Given the description of an element on the screen output the (x, y) to click on. 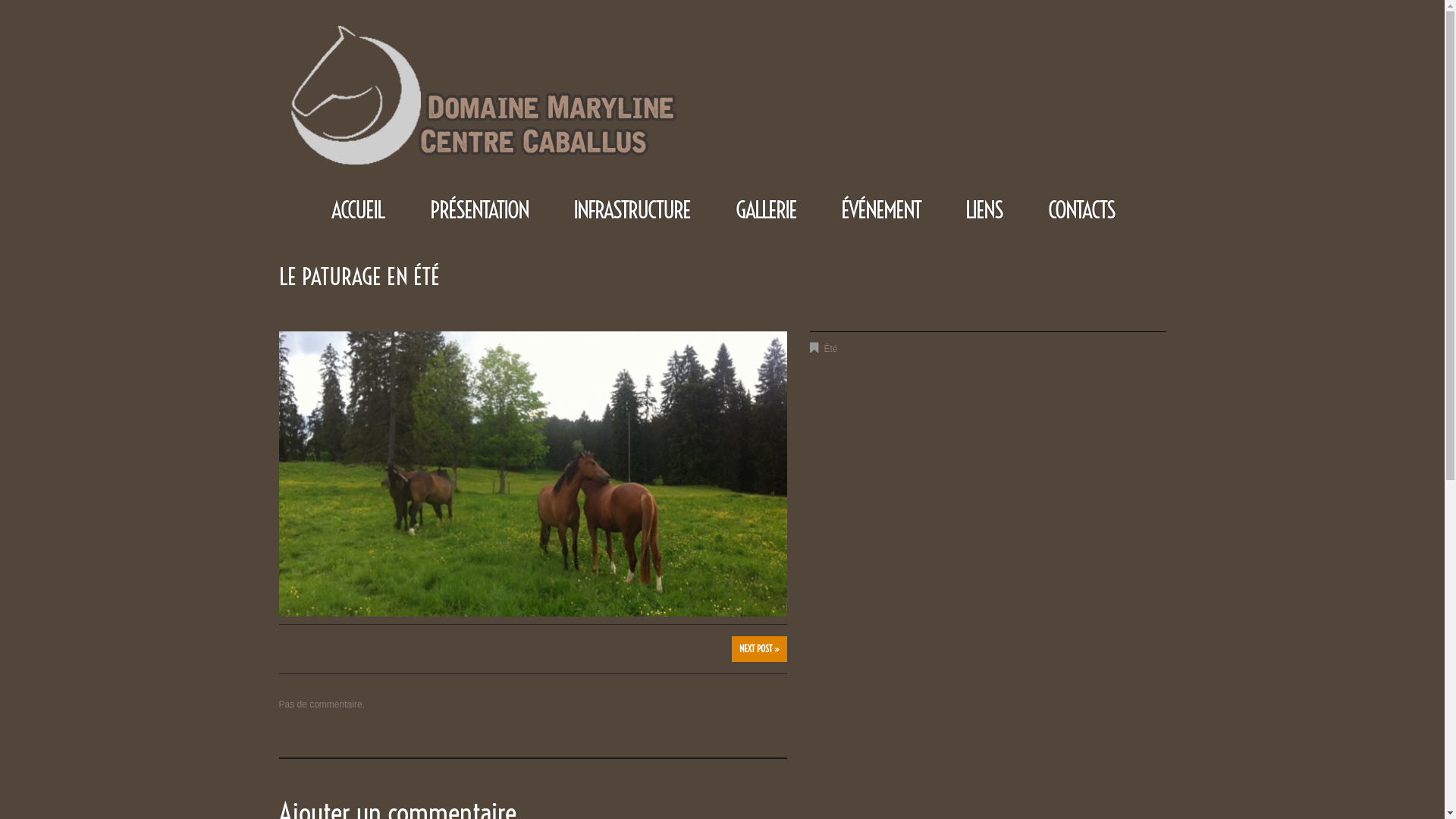
LIENS Element type: text (983, 210)
Play Element type: text (532, 473)
GALLERIE Element type: text (765, 210)
CONTACTS Element type: text (1080, 210)
ACCUEIL Element type: text (357, 210)
INFRASTRUCTURE Element type: text (631, 210)
